Given the description of an element on the screen output the (x, y) to click on. 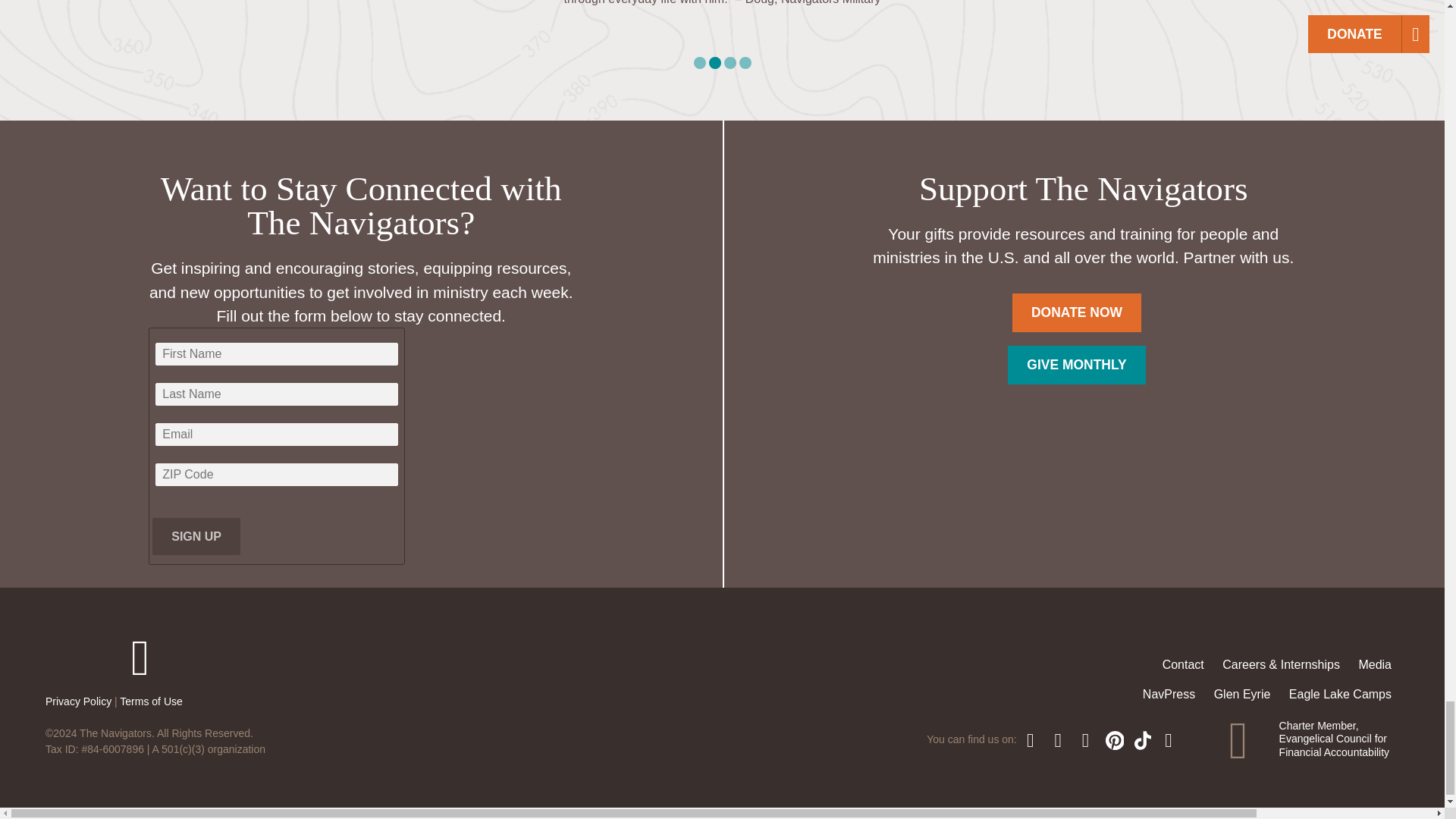
SIGN UP (196, 536)
